Given the description of an element on the screen output the (x, y) to click on. 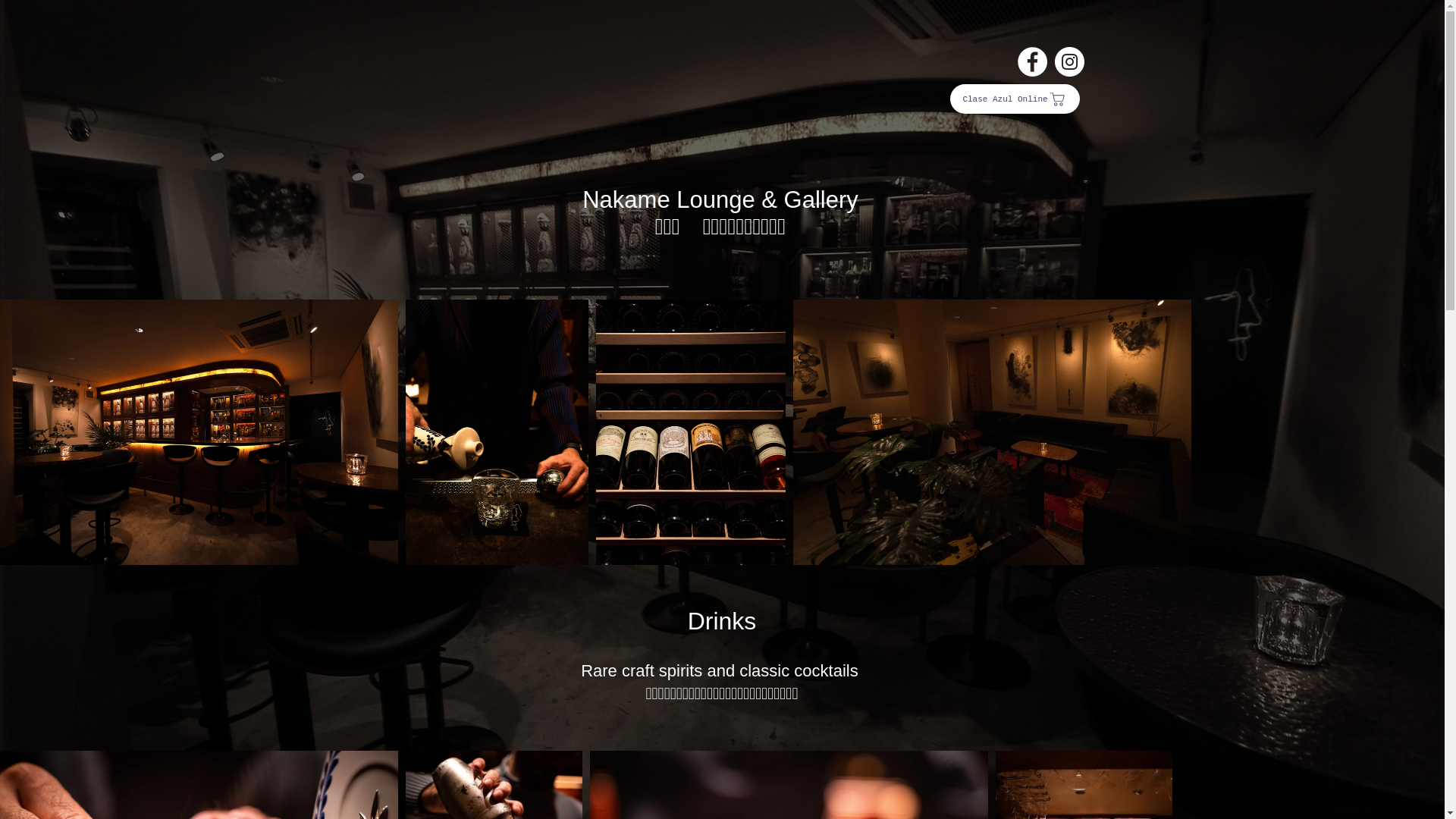
Clase Azul Online Element type: text (1014, 98)
